Given the description of an element on the screen output the (x, y) to click on. 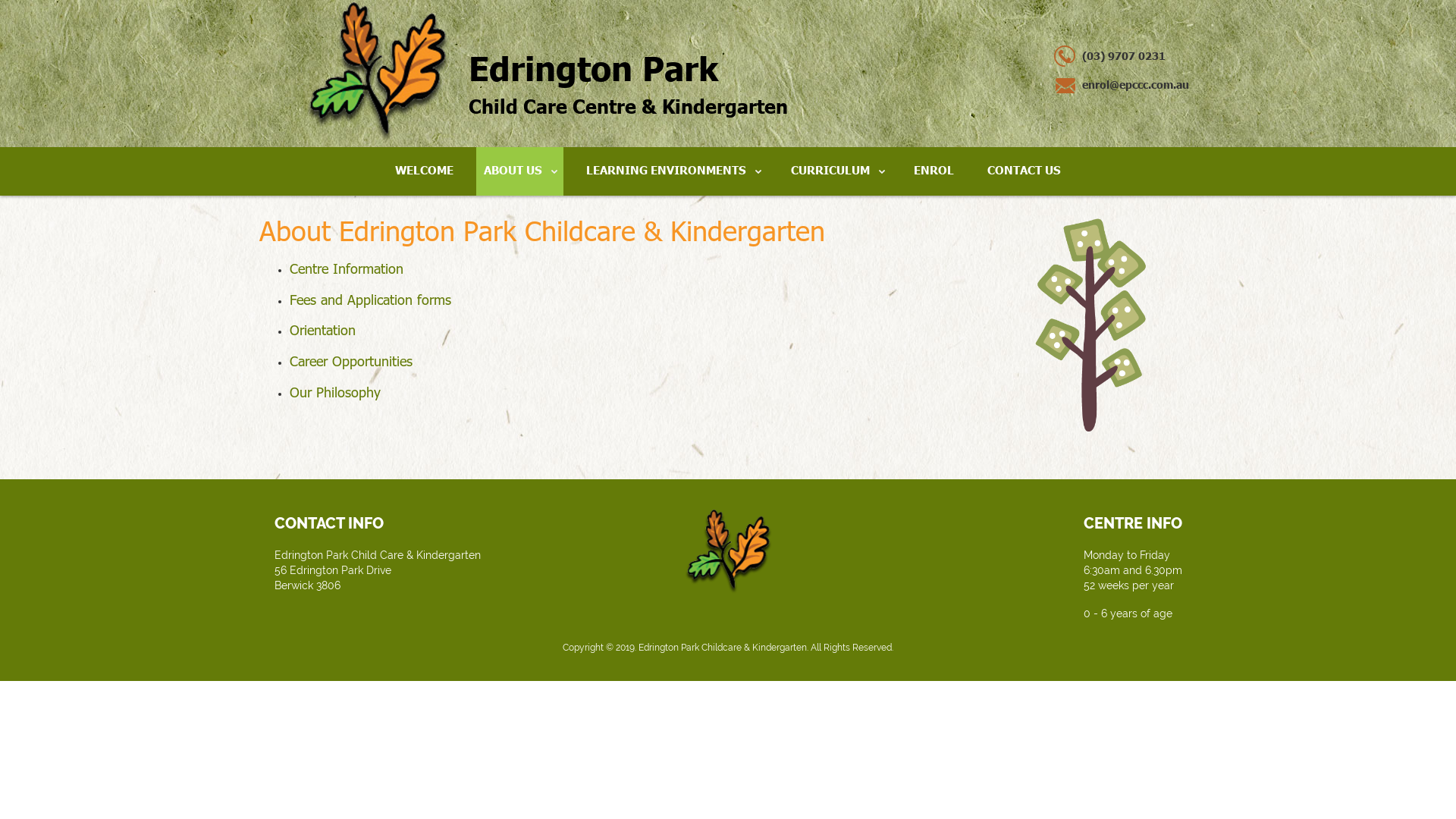
WELCOME Element type: text (424, 171)
CURRICULUM Element type: text (837, 171)
CONTACT US Element type: text (1023, 171)
ENROL Element type: text (933, 171)
Fees and Application forms Element type: text (370, 299)
ABOUT US Element type: text (520, 171)
LEARNING ENVIRONMENTS Element type: text (673, 171)
Centre Information Element type: text (346, 268)
Orientation Element type: text (322, 329)
enrol@epccc.com.au Element type: text (1121, 84)
Career Opportunities Element type: text (350, 360)
(03) 9707 0231 Element type: text (1109, 55)
Our Philosophy Element type: text (334, 391)
Edrington Park
Child Care Centre & Kindergarten Element type: text (545, 72)
